Given the description of an element on the screen output the (x, y) to click on. 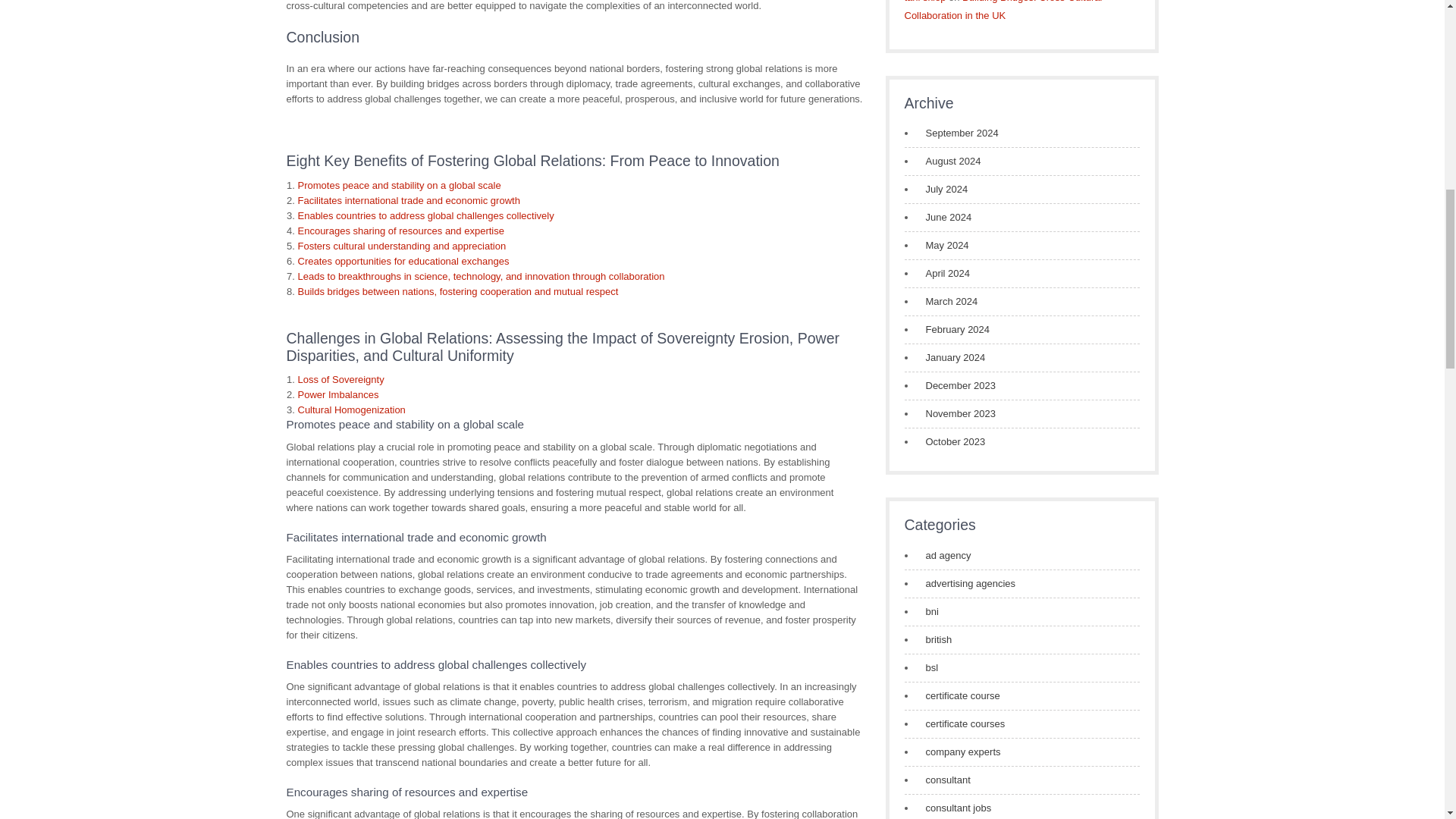
Fosters cultural understanding and appreciation (401, 245)
Creates opportunities for educational exchanges (402, 260)
Encourages sharing of resources and expertise (400, 230)
Cultural Homogenization (350, 409)
Promotes peace and stability on a global scale (398, 184)
Facilitates international trade and economic growth (408, 200)
Enables countries to address global challenges collectively (425, 215)
Power Imbalances (337, 394)
